Given the description of an element on the screen output the (x, y) to click on. 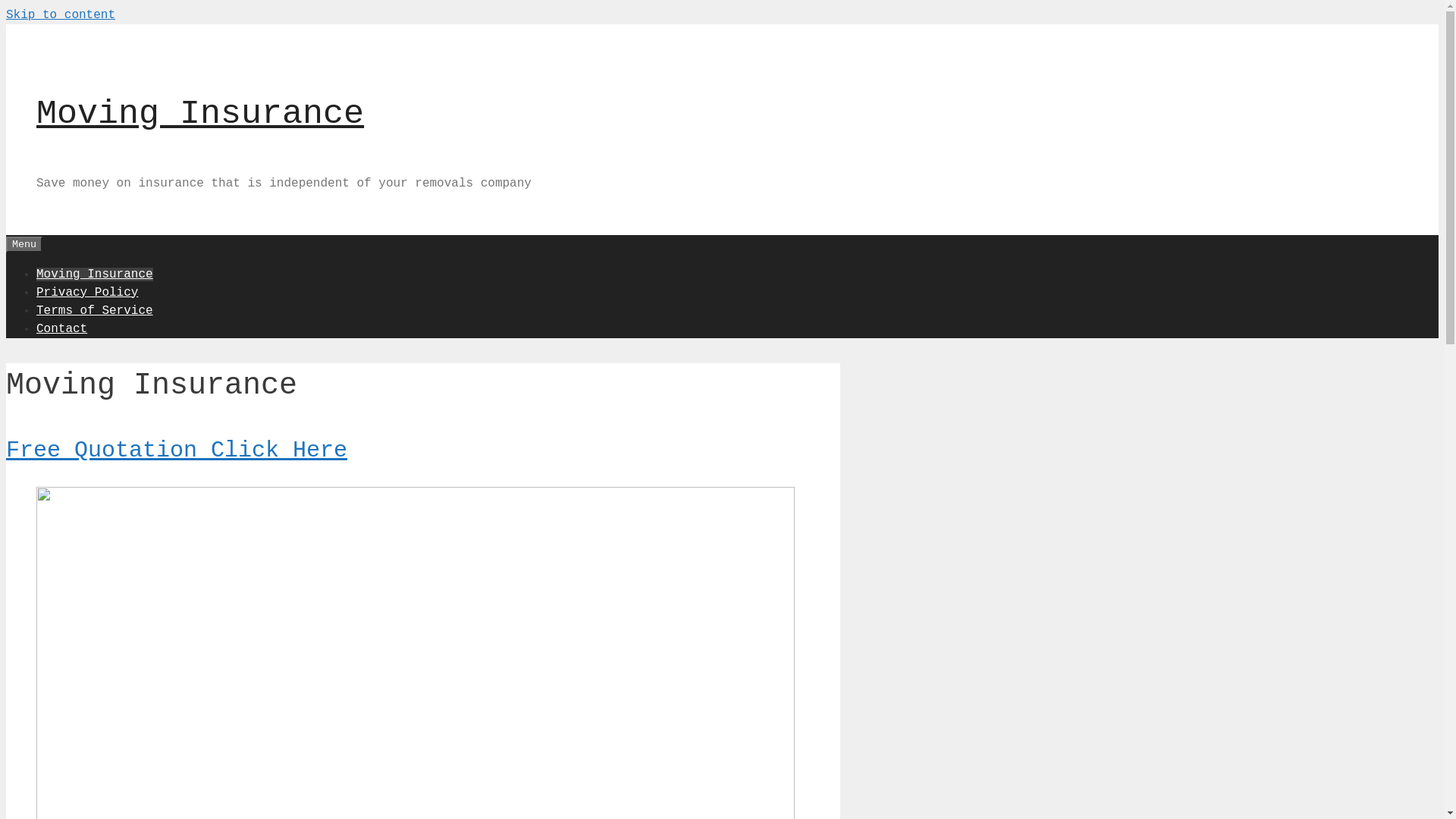
Moving Insurance Element type: text (200, 113)
Menu Element type: text (24, 244)
Skip to content Element type: text (60, 14)
Privacy Policy Element type: text (87, 291)
Moving Insurance Element type: text (94, 273)
Terms of Service Element type: text (94, 309)
Free Quotation Click Here Element type: text (176, 450)
Contact Element type: text (61, 328)
